Given the description of an element on the screen output the (x, y) to click on. 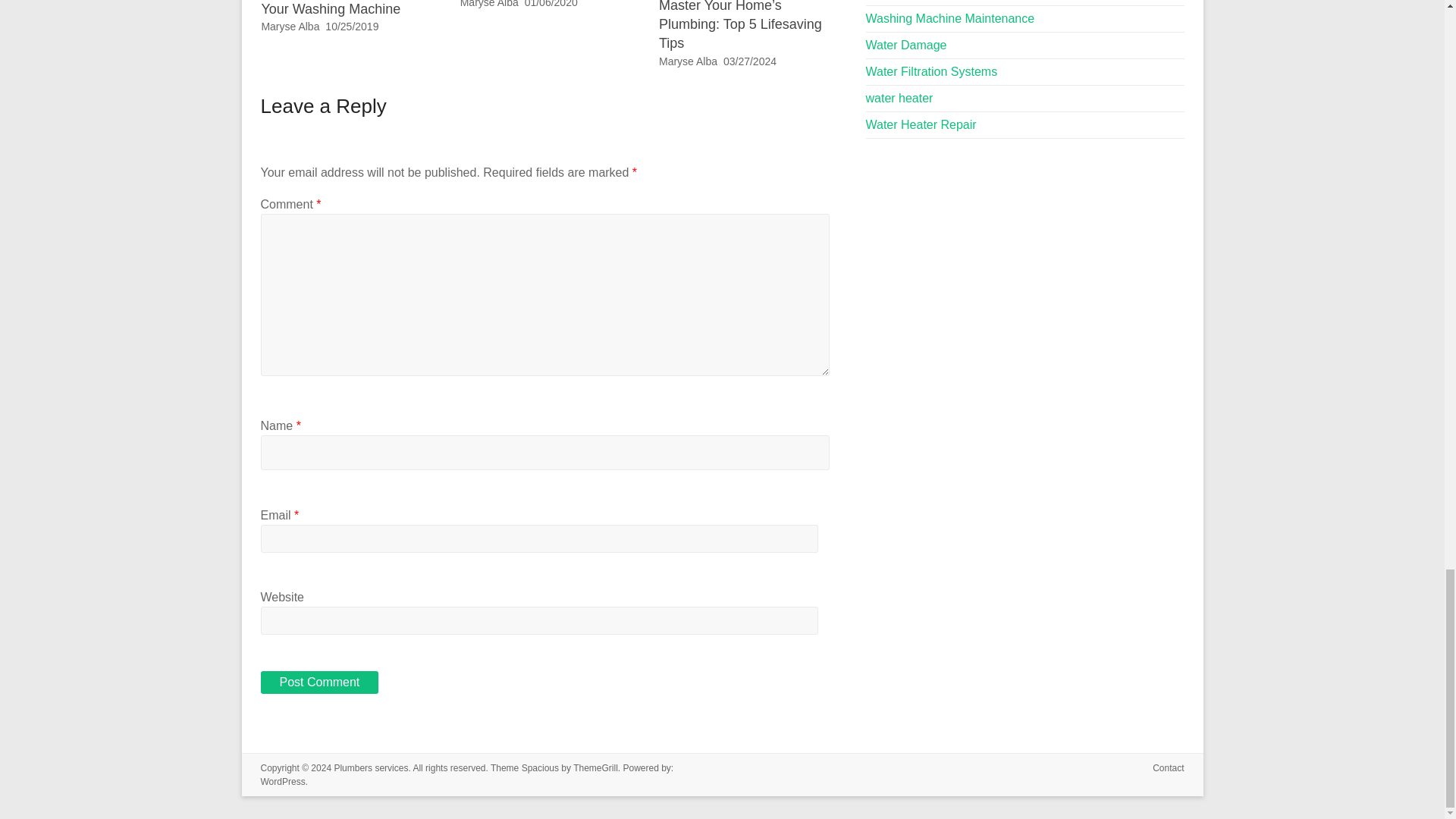
Maryse Alba (688, 61)
Plumbers services (370, 767)
14:19 (351, 26)
10:09 (749, 61)
Post Comment (319, 681)
Homemade Tips to Clean Your Washing Machine (337, 8)
Maryse Alba (489, 4)
14:33 (551, 4)
Maryse Alba (289, 26)
Homemade Tips to Clean Your Washing Machine (337, 8)
